Given the description of an element on the screen output the (x, y) to click on. 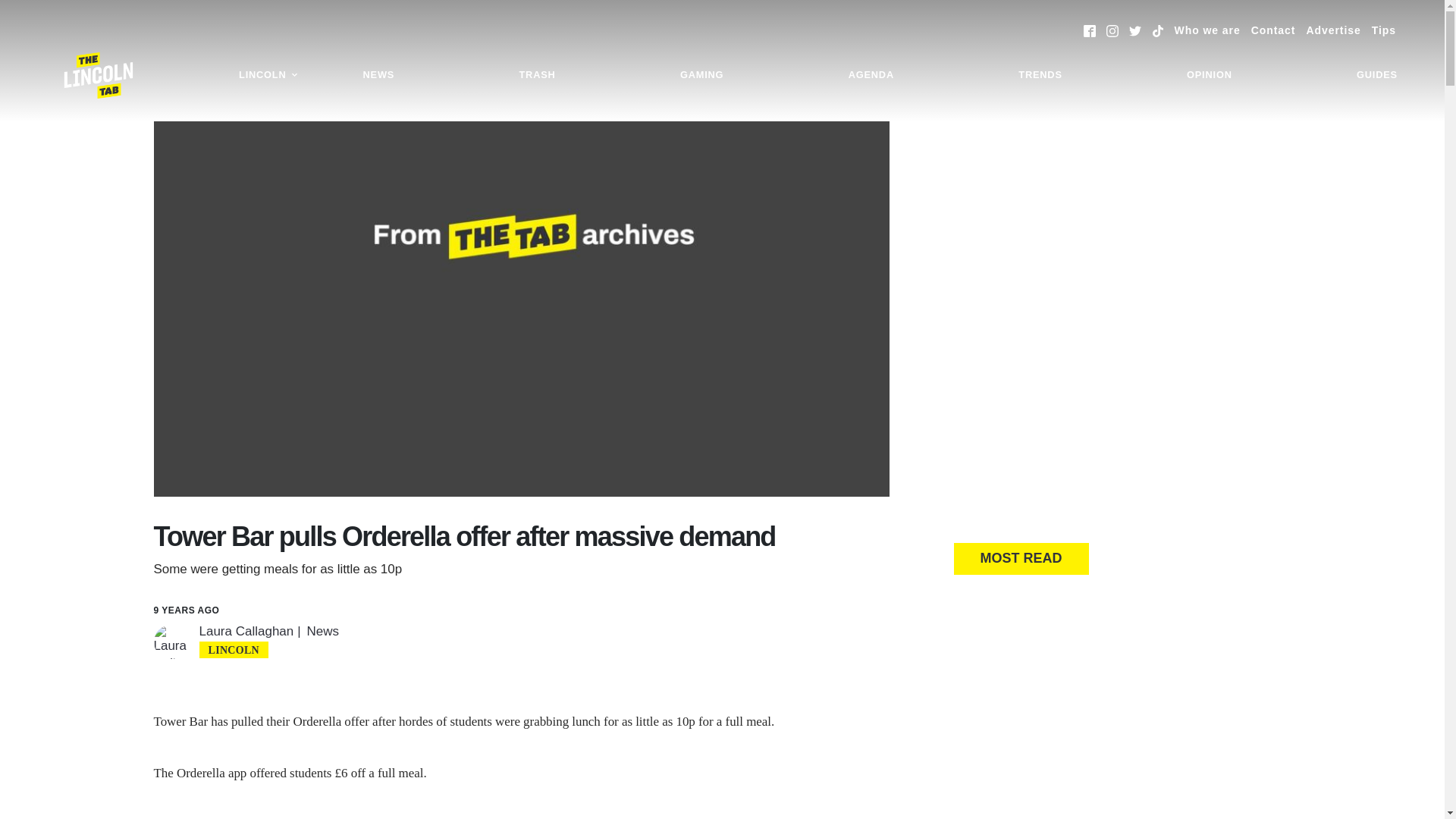
Who we are (1207, 29)
GUIDES (1377, 75)
AGENDA (871, 75)
Advertise (1332, 29)
Contact (1272, 29)
Tips (1383, 29)
NEWS (379, 75)
OPINION (1208, 75)
GAMING (701, 75)
LINCOLN (268, 75)
TRENDS (1040, 75)
TRASH (536, 75)
